Given the description of an element on the screen output the (x, y) to click on. 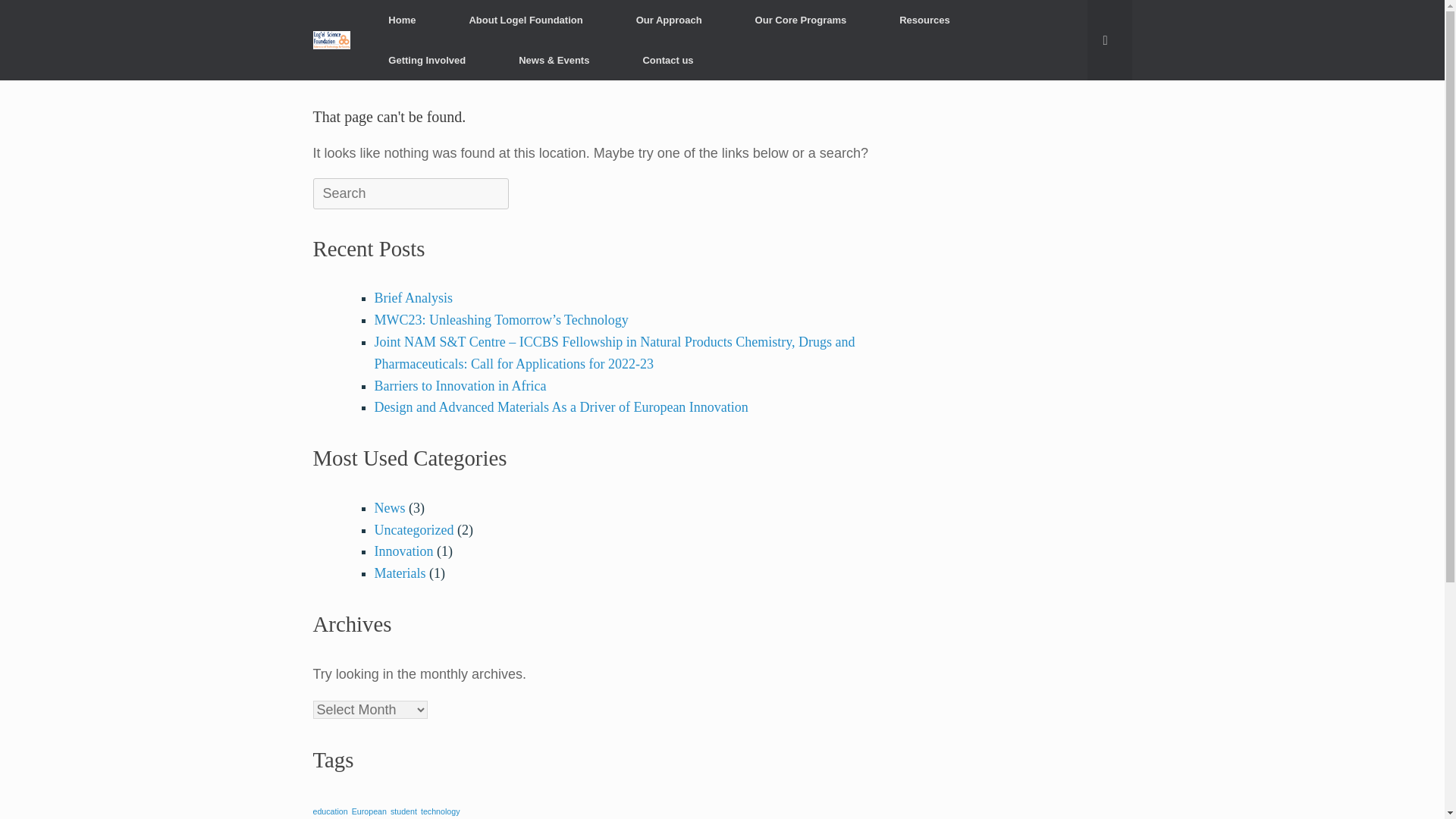
Innovation (403, 550)
News (390, 507)
Our Core Programs (801, 20)
Getting Involved (426, 60)
education (330, 810)
Barriers to Innovation in Africa (460, 385)
Materials (400, 572)
Resources (923, 20)
Uncategorized (414, 529)
European (369, 810)
student (403, 810)
Brief Analysis (413, 297)
Home (401, 20)
Contact us (667, 60)
technology (440, 810)
